Given the description of an element on the screen output the (x, y) to click on. 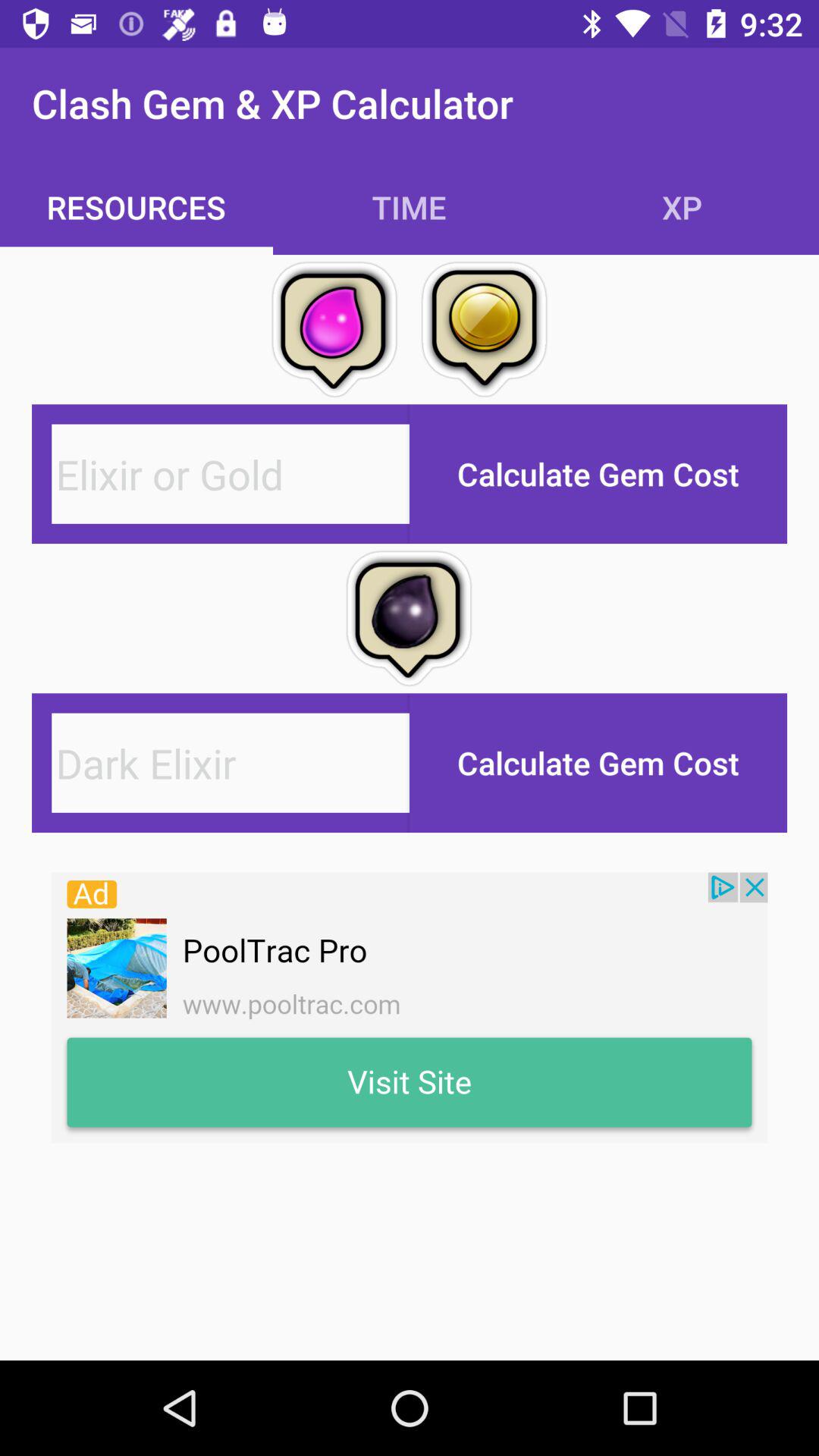
typing page (230, 762)
